Given the description of an element on the screen output the (x, y) to click on. 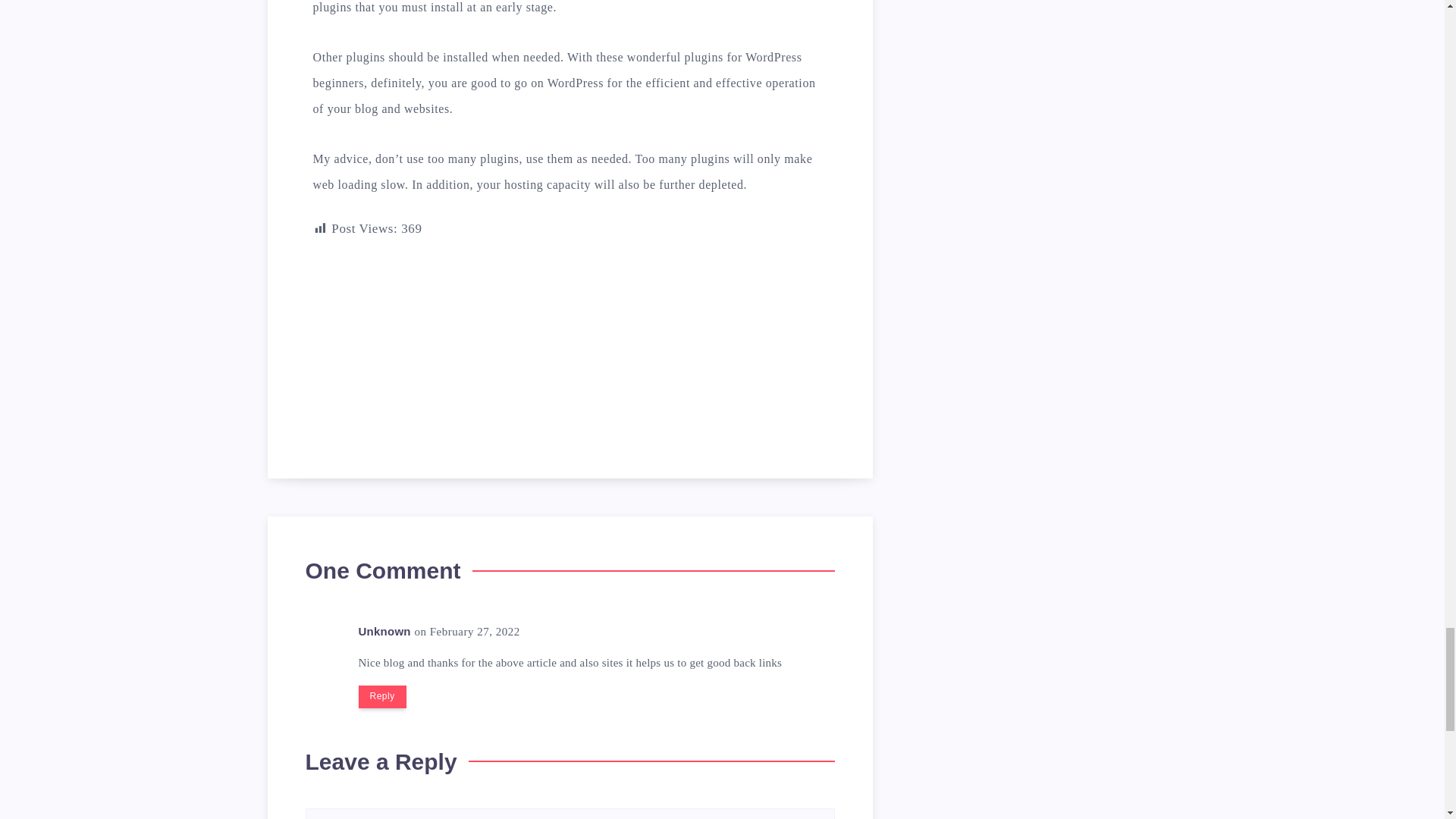
Reply (382, 696)
Unknown (384, 631)
